Given the description of an element on the screen output the (x, y) to click on. 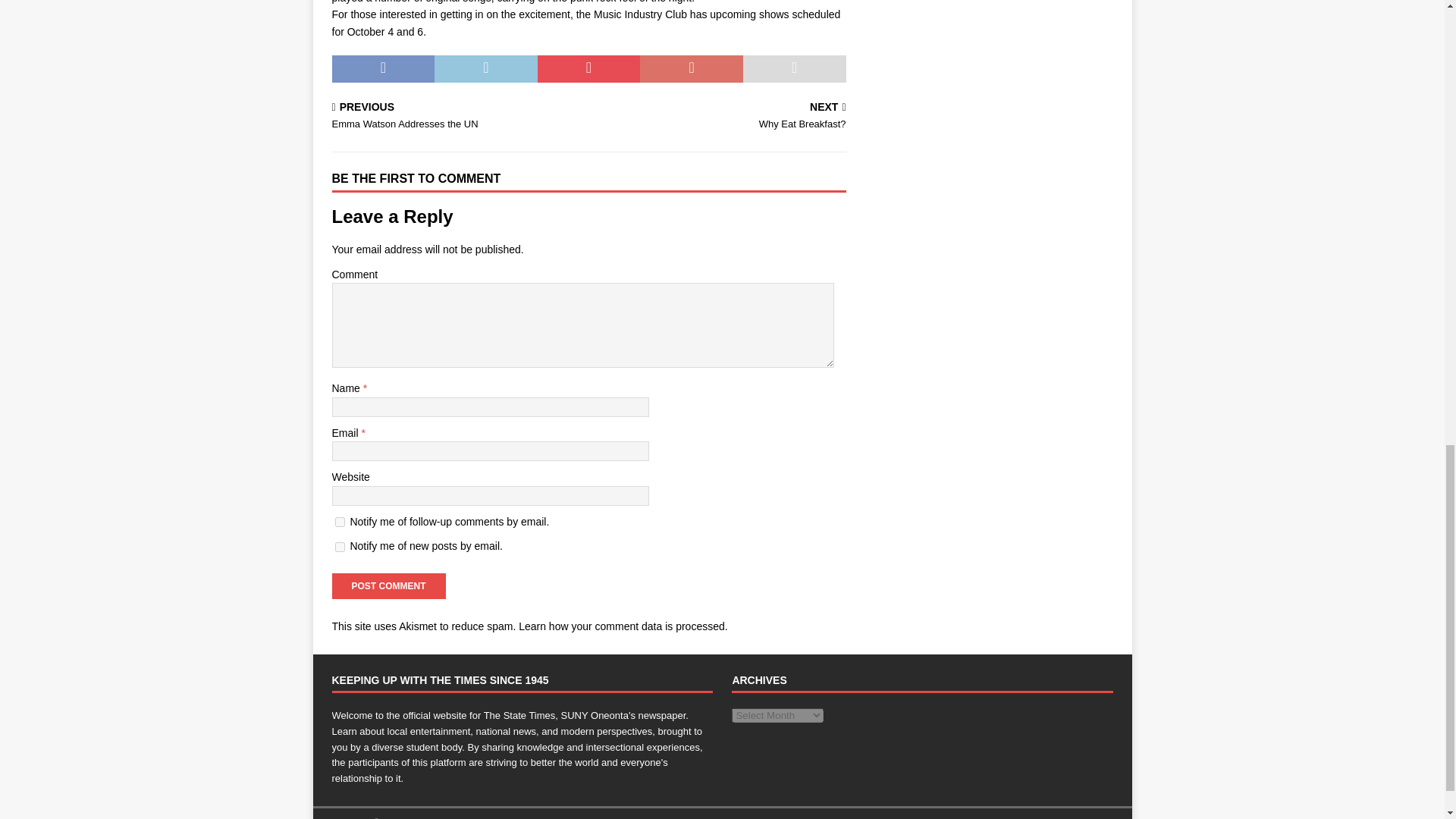
subscribe (339, 521)
subscribe (339, 547)
Post Comment (388, 585)
